Given the description of an element on the screen output the (x, y) to click on. 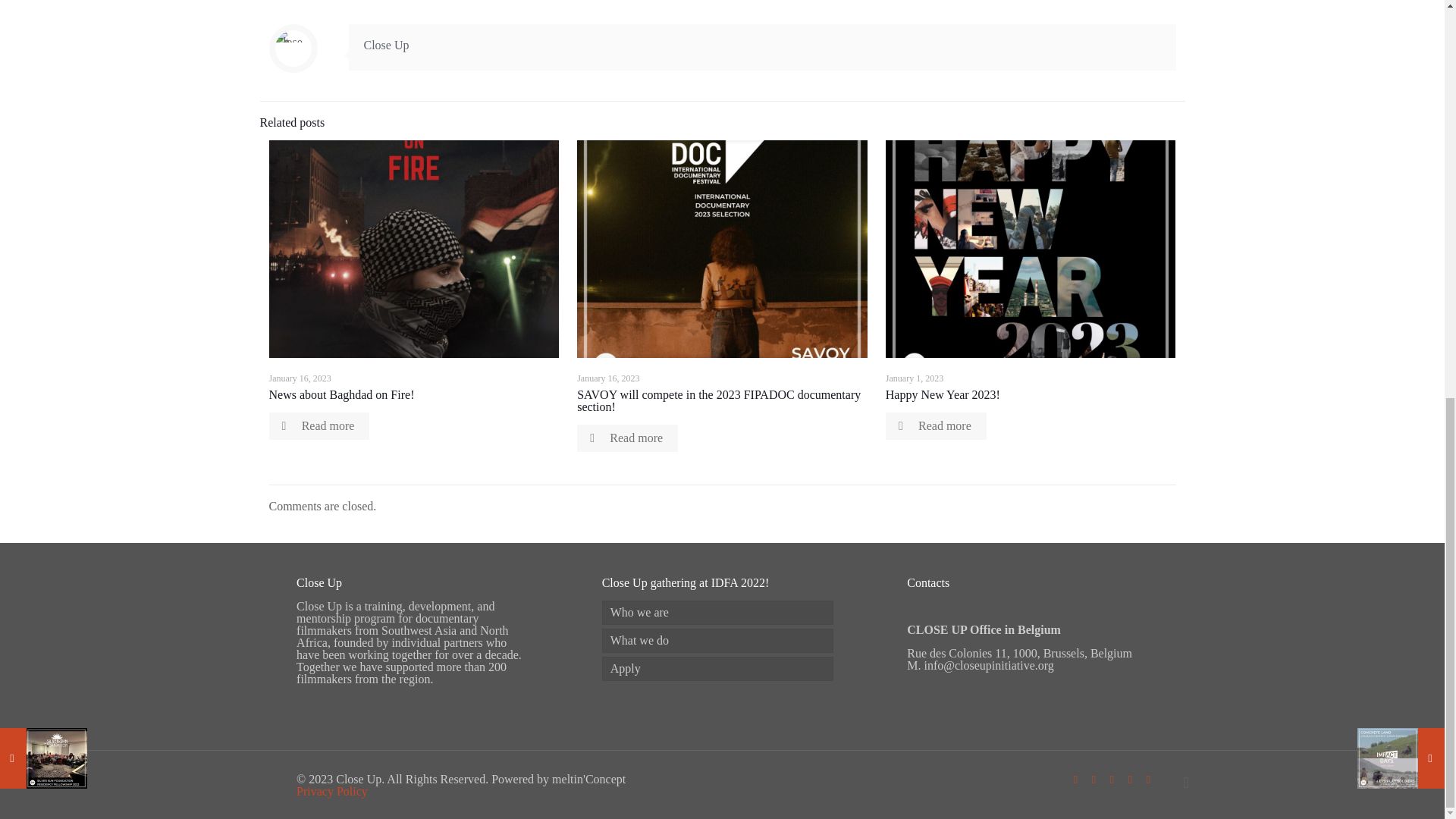
LinkedIn (1131, 779)
Twitter (1094, 779)
Privacy Policy  (332, 790)
Facebook (1076, 779)
Instagram (1149, 779)
YouTube (1112, 779)
